Given the description of an element on the screen output the (x, y) to click on. 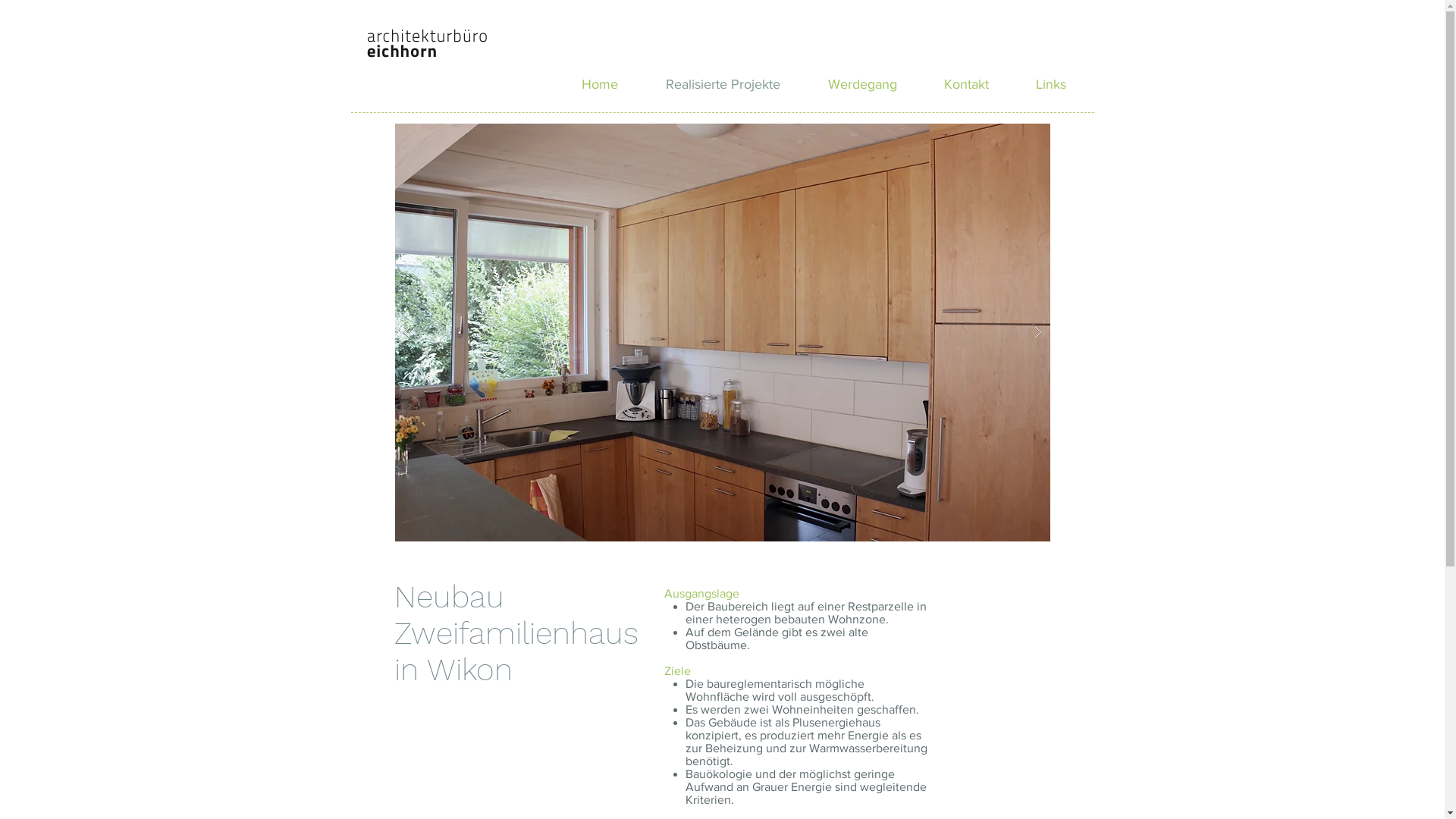
Realisierte Projekte Element type: text (722, 84)
Realisierte Projekte Element type: text (744, 50)
Kontakt Element type: text (966, 84)
Links Element type: text (1028, 50)
Kontakt Element type: text (958, 50)
Werdegang Element type: text (861, 84)
Werdegang Element type: text (869, 50)
Home Element type: text (635, 50)
Links Element type: text (1049, 84)
Home Element type: text (600, 84)
